Given the description of an element on the screen output the (x, y) to click on. 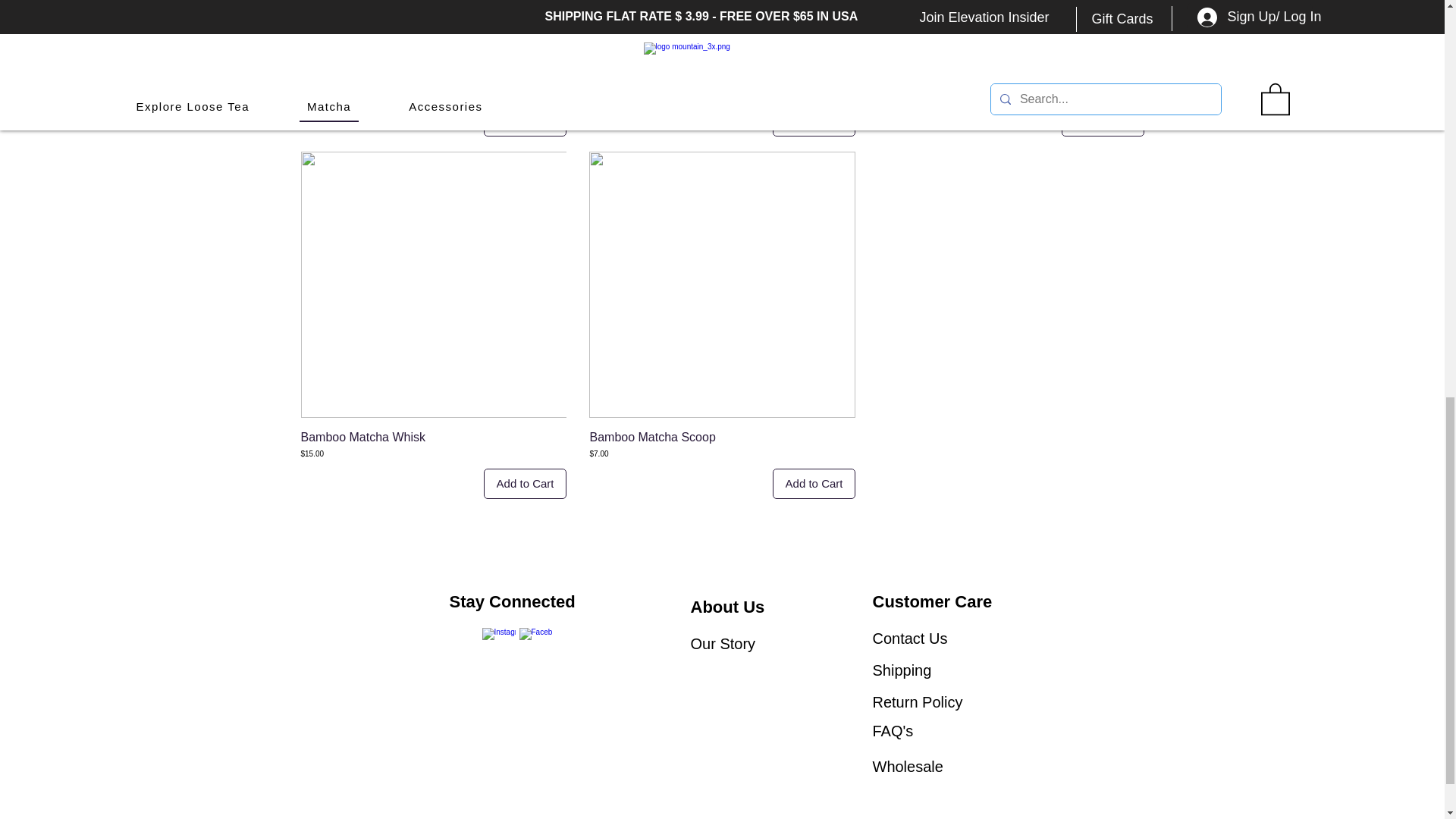
Add to Cart (525, 483)
Contact Us (909, 638)
Add to Cart (814, 483)
Add to Cart (1102, 120)
Add to Cart (525, 120)
Add to Cart (814, 120)
